Given the description of an element on the screen output the (x, y) to click on. 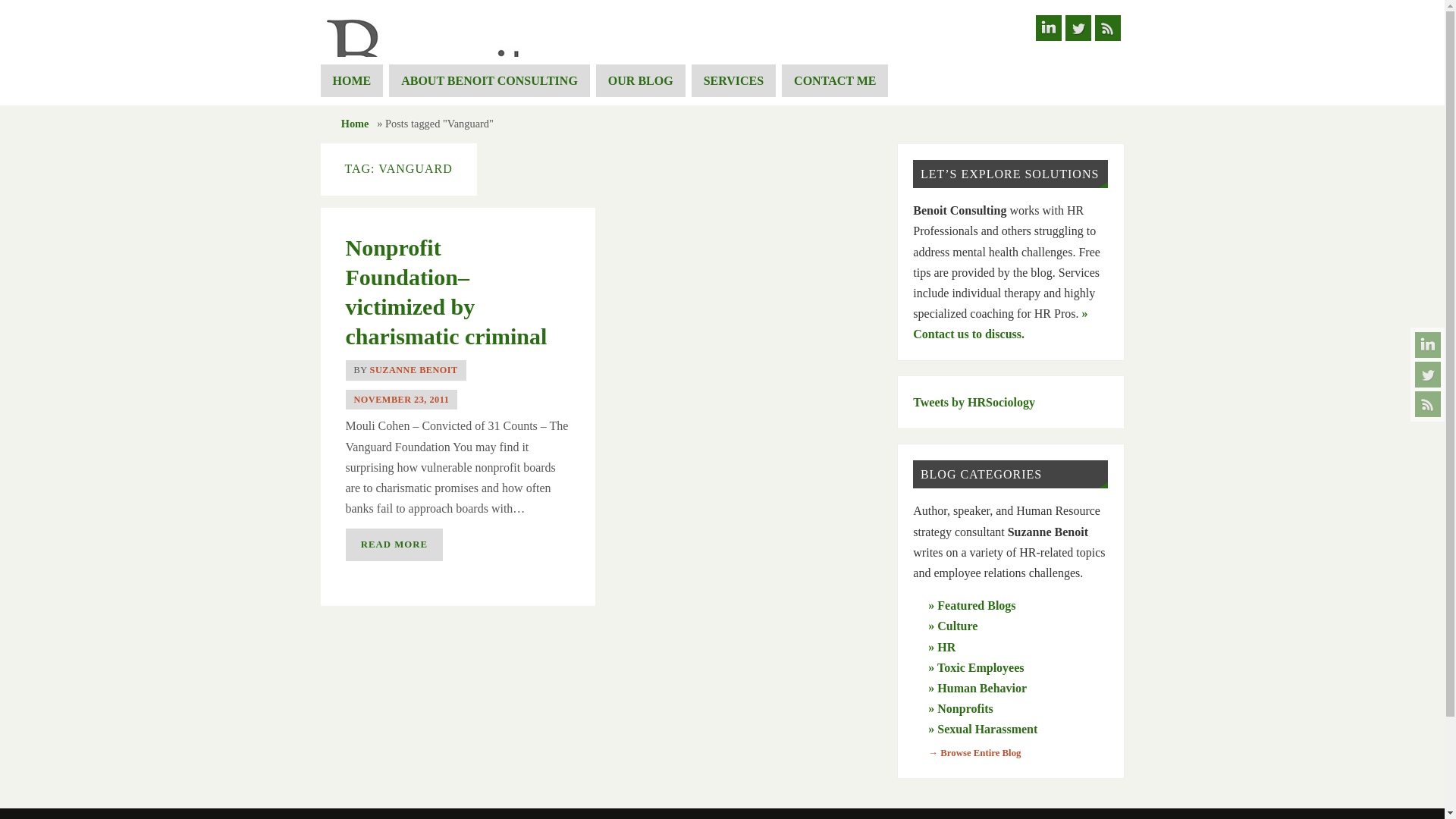
OUR BLOG (640, 80)
Home (354, 123)
SERVICES (733, 80)
LinkedIn (1048, 27)
Twitter (1428, 374)
LinkedIn (1428, 344)
View all posts by Suzanne Benoit (413, 369)
Twitter (1077, 27)
RSS Feed (1107, 27)
Tweets by HRSociology (973, 401)
SUZANNE BENOIT (413, 369)
NOVEMBER 23, 2011 (400, 398)
READ MORE (395, 544)
RSS Feed (1428, 403)
CONTACT ME (834, 80)
